Given the description of an element on the screen output the (x, y) to click on. 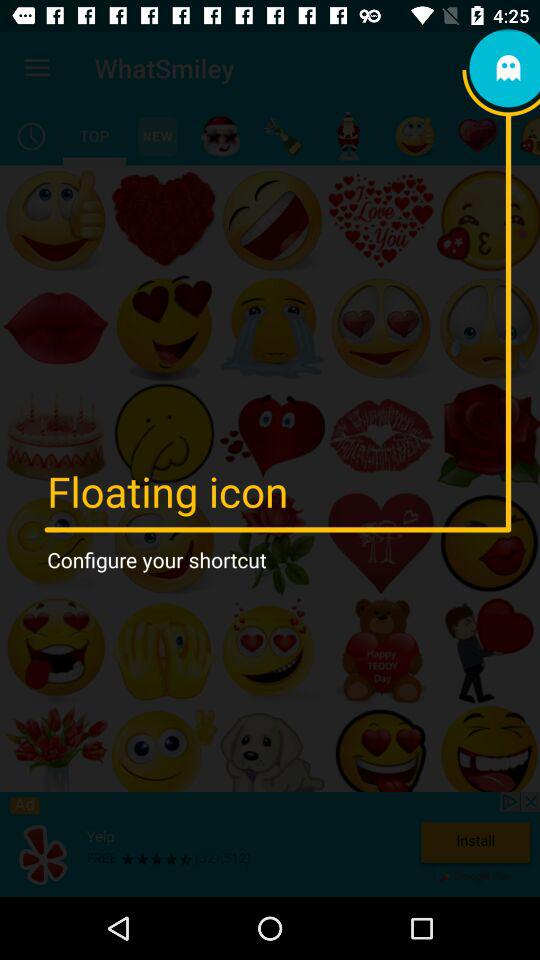
celebration icons (283, 136)
